Given the description of an element on the screen output the (x, y) to click on. 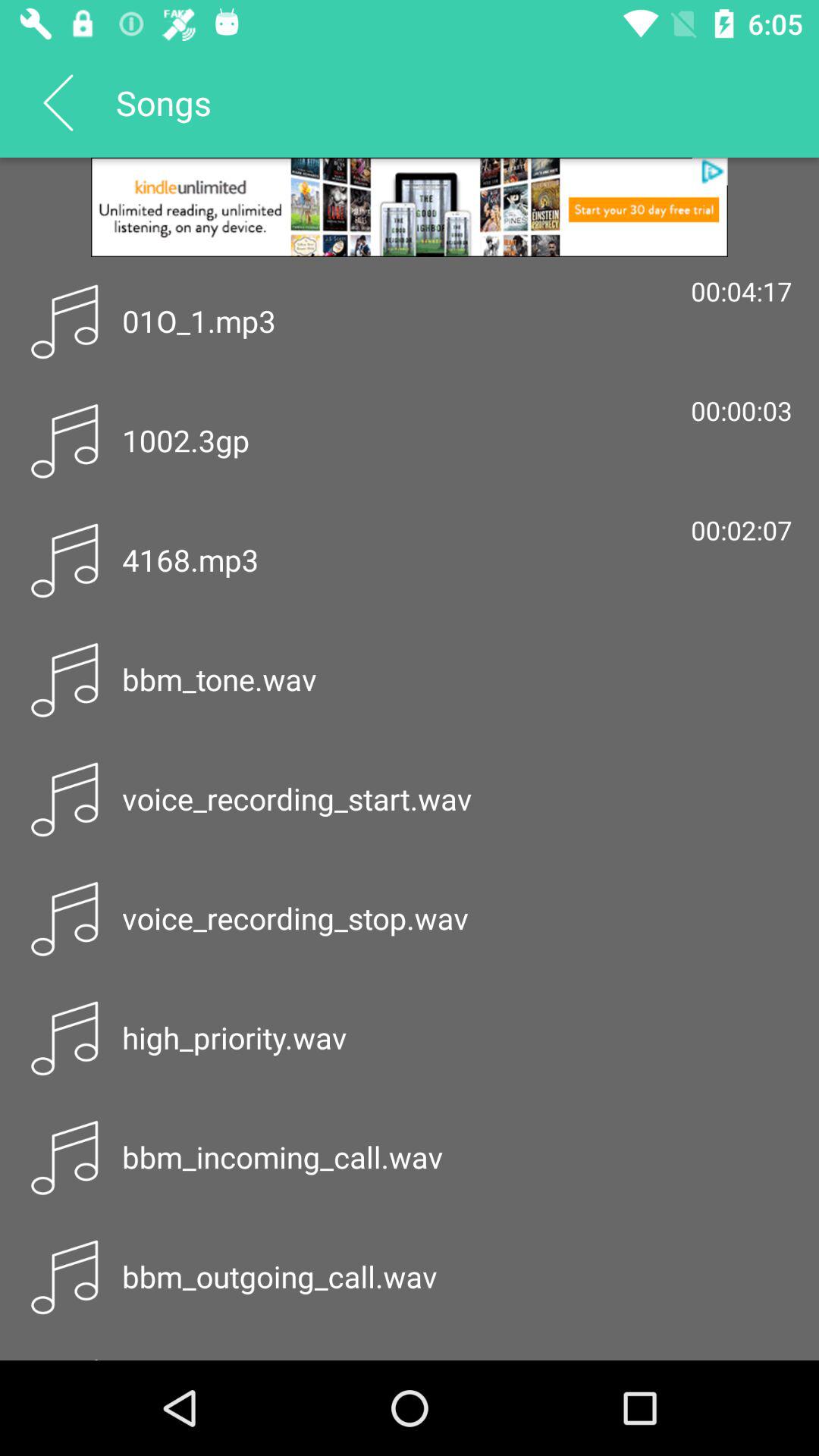
advertisement page (409, 207)
